Given the description of an element on the screen output the (x, y) to click on. 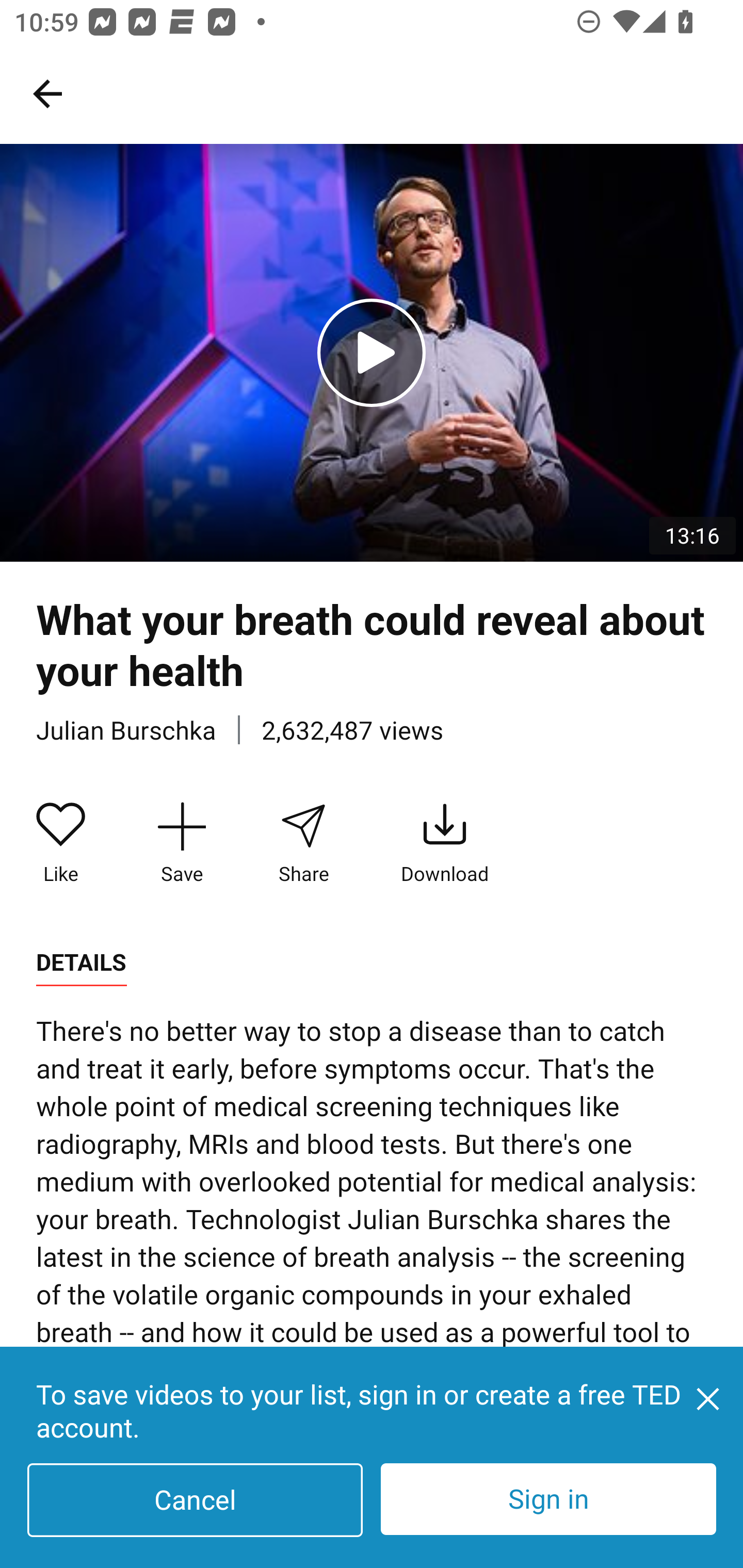
Home, back (47, 92)
Like (60, 843)
Save (181, 843)
Share (302, 843)
Download (444, 843)
DETAILS (80, 962)
Cancel (194, 1499)
Sign in (548, 1498)
